Given the description of an element on the screen output the (x, y) to click on. 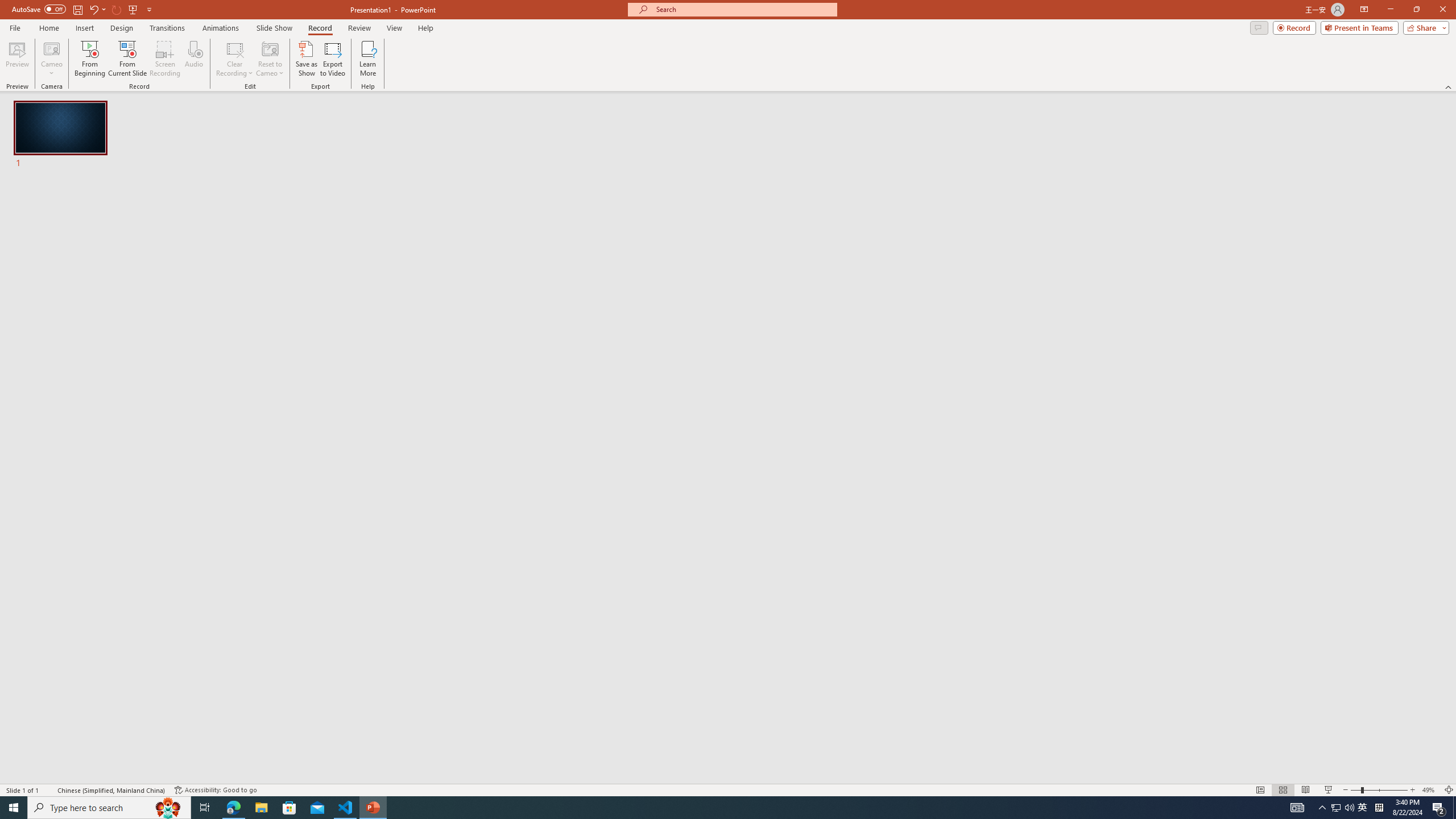
Zoom 49% (1430, 790)
